Given the description of an element on the screen output the (x, y) to click on. 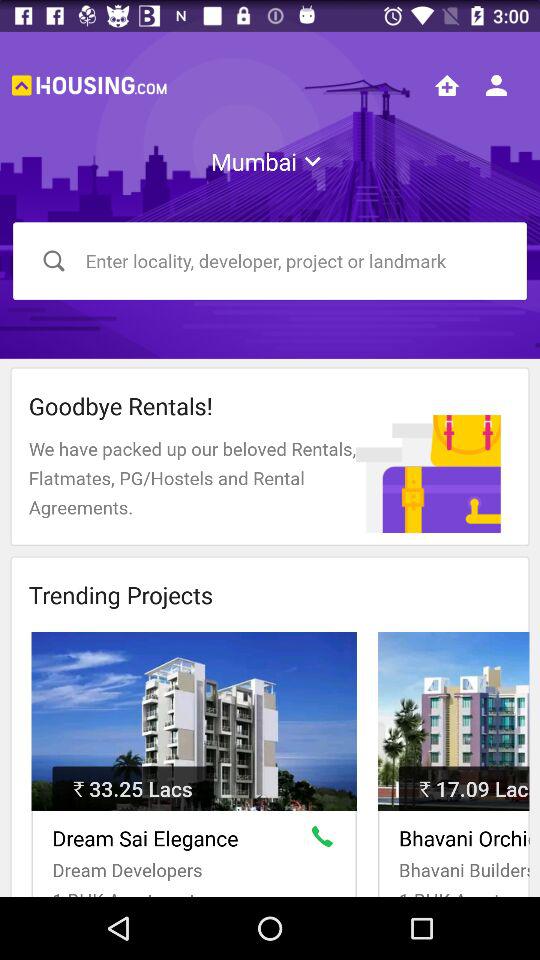
turn on enter locality developer (269, 260)
